Given the description of an element on the screen output the (x, y) to click on. 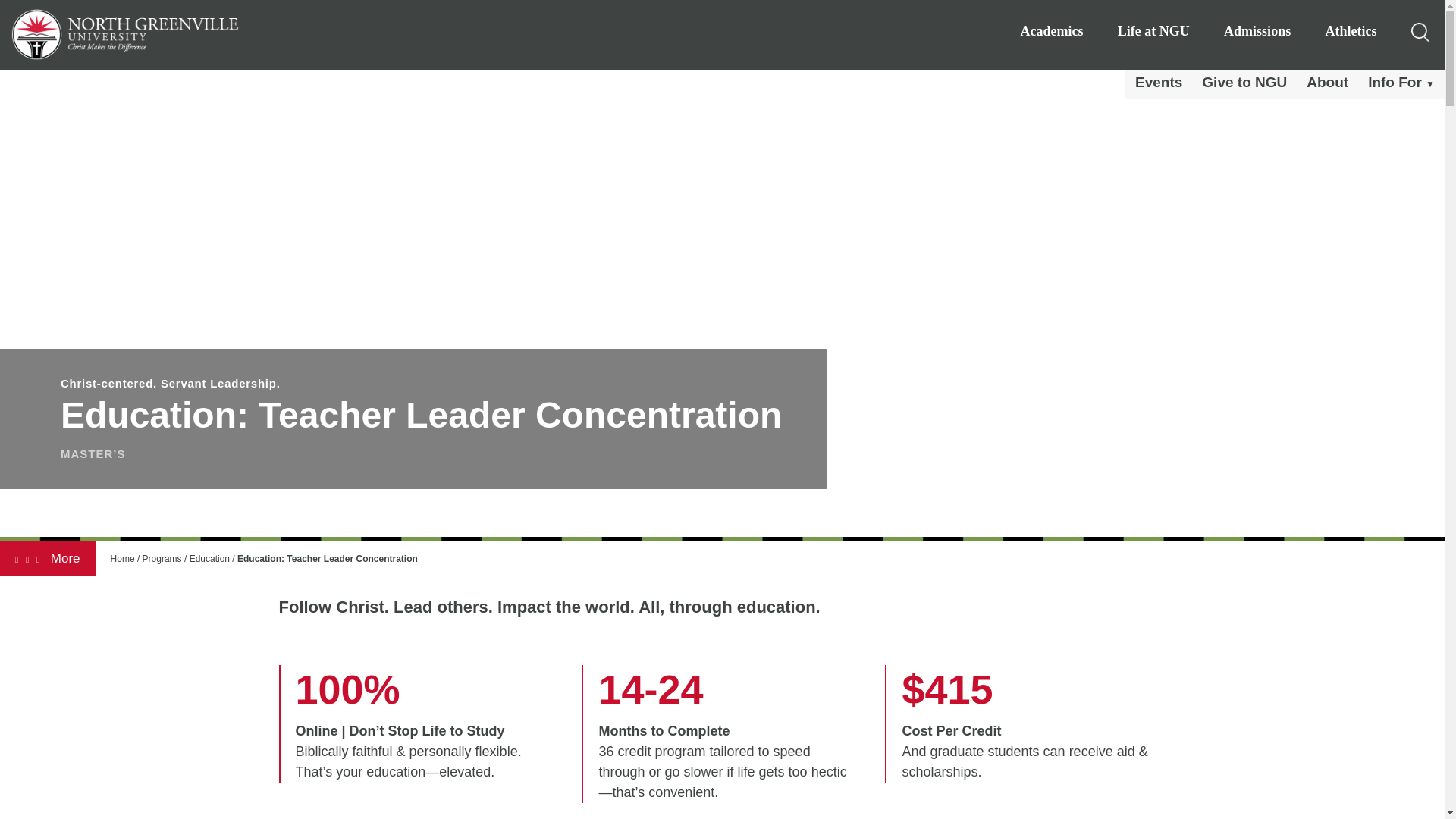
Life at NGU (1153, 34)
Give to NGU (1244, 82)
Athletics (1350, 34)
Academics (1051, 34)
North Greenville University (124, 32)
Events (1158, 82)
Admissions (1256, 34)
